Given the description of an element on the screen output the (x, y) to click on. 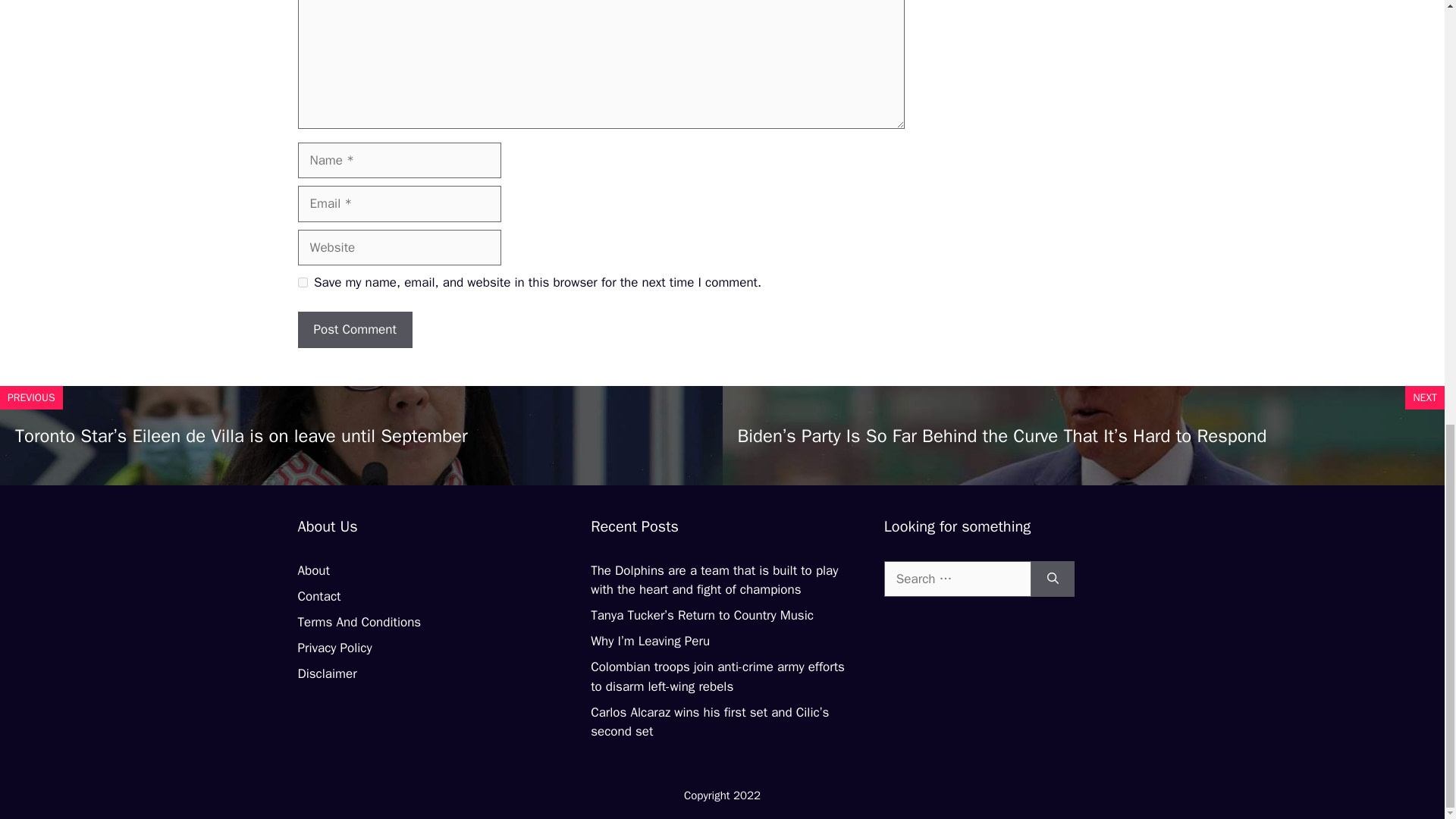
Post Comment (354, 330)
About (313, 570)
Post Comment (354, 330)
yes (302, 282)
Search for: (956, 579)
